Given the description of an element on the screen output the (x, y) to click on. 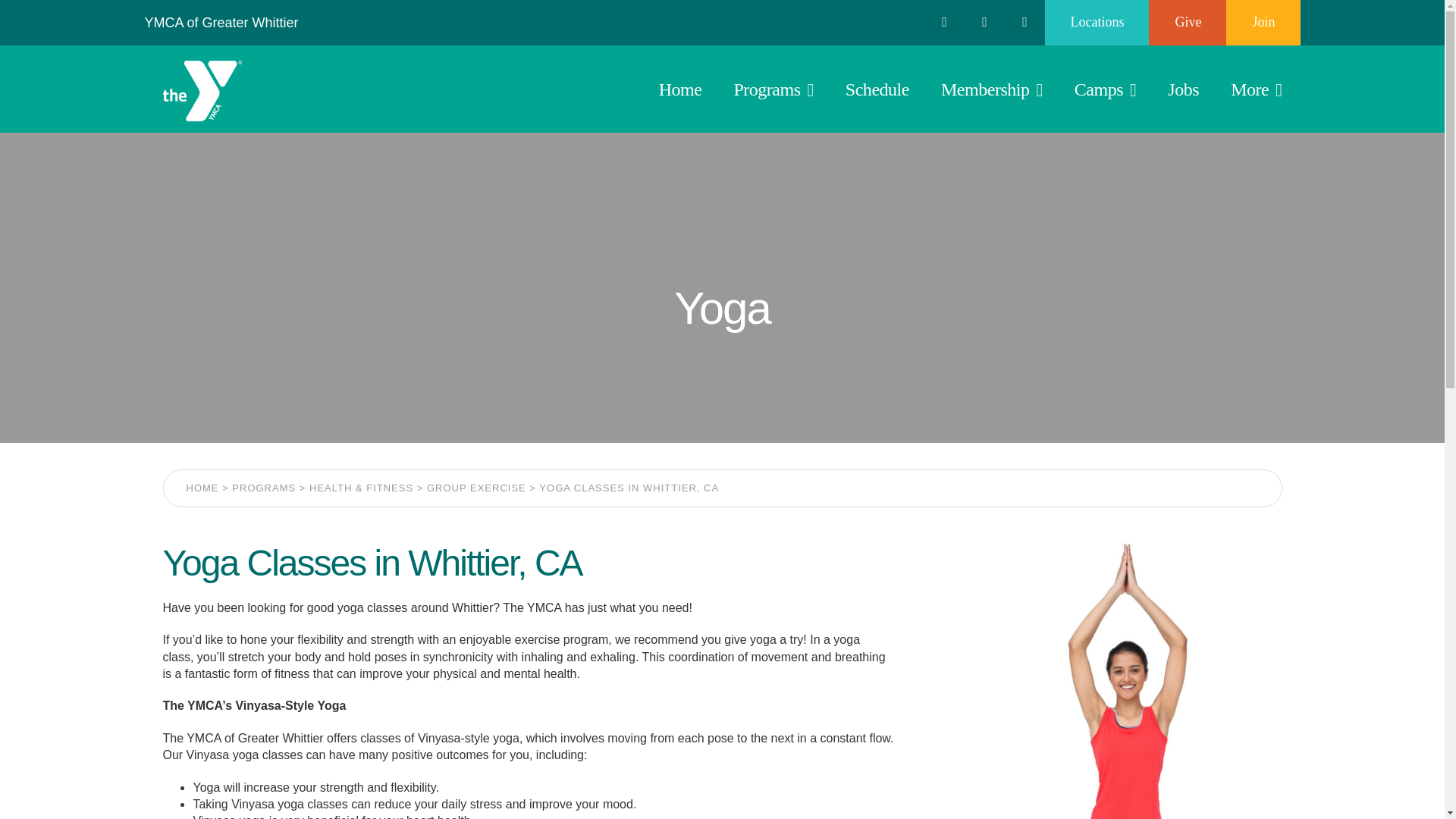
yoga-tech-1 (1110, 680)
Give (1187, 22)
Membership (991, 89)
Join (1262, 22)
Programs (772, 89)
Locations (1096, 22)
